Given the description of an element on the screen output the (x, y) to click on. 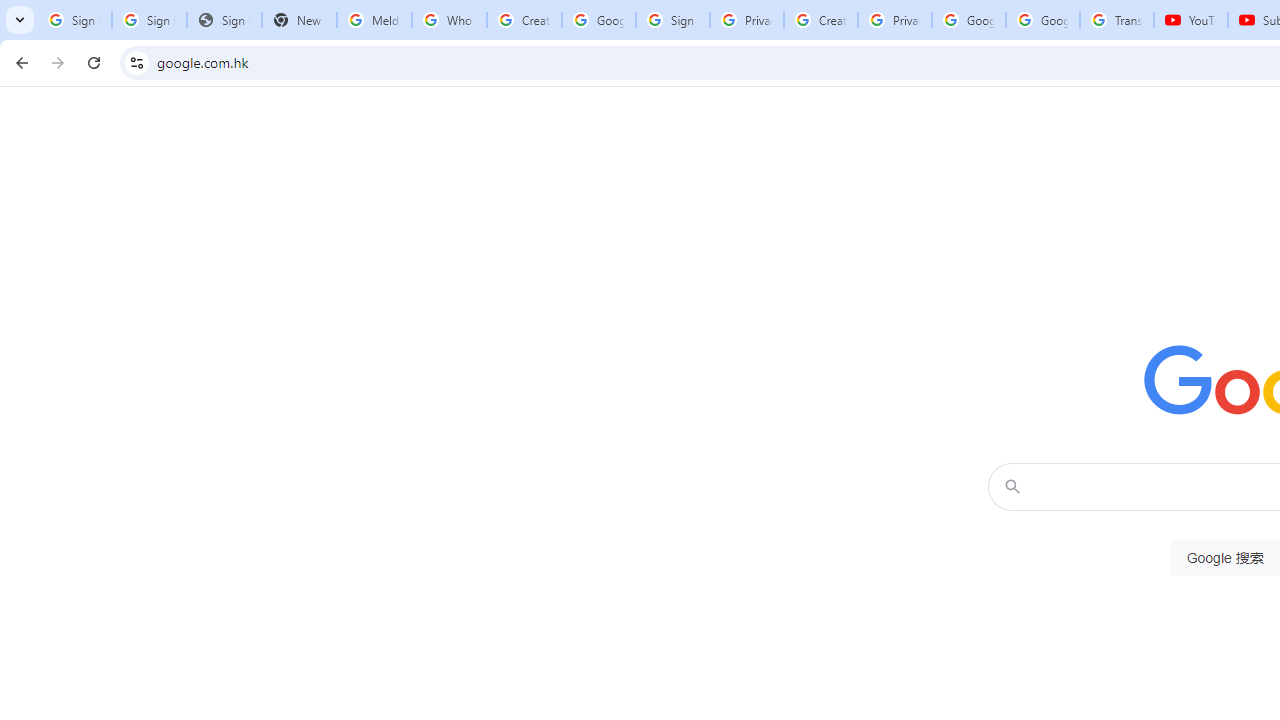
YouTube (1190, 20)
Google Account (1043, 20)
Who is my administrator? - Google Account Help (449, 20)
Create your Google Account (820, 20)
Sign in - Google Accounts (148, 20)
Sign In - USA TODAY (224, 20)
